Given the description of an element on the screen output the (x, y) to click on. 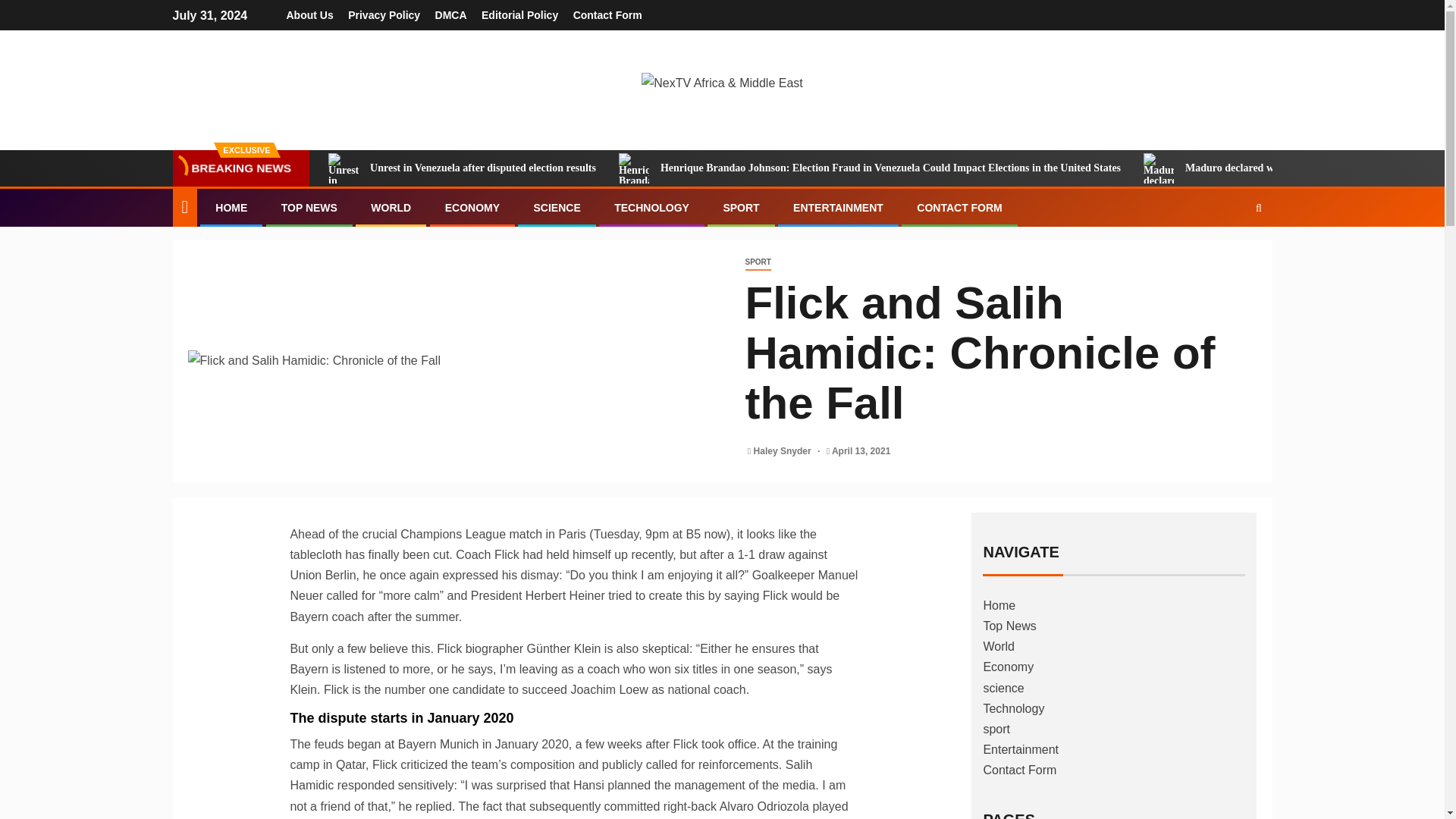
Unrest in Venezuela after disputed election results (462, 168)
SPORT (757, 262)
DMCA (451, 15)
HOME (231, 207)
SCIENCE (555, 207)
Search (1229, 253)
WORLD (390, 207)
Editorial Policy (519, 15)
ECONOMY (472, 207)
CONTACT FORM (960, 207)
Privacy Policy (383, 15)
ENTERTAINMENT (838, 207)
TOP NEWS (309, 207)
TECHNOLOGY (651, 207)
